Given the description of an element on the screen output the (x, y) to click on. 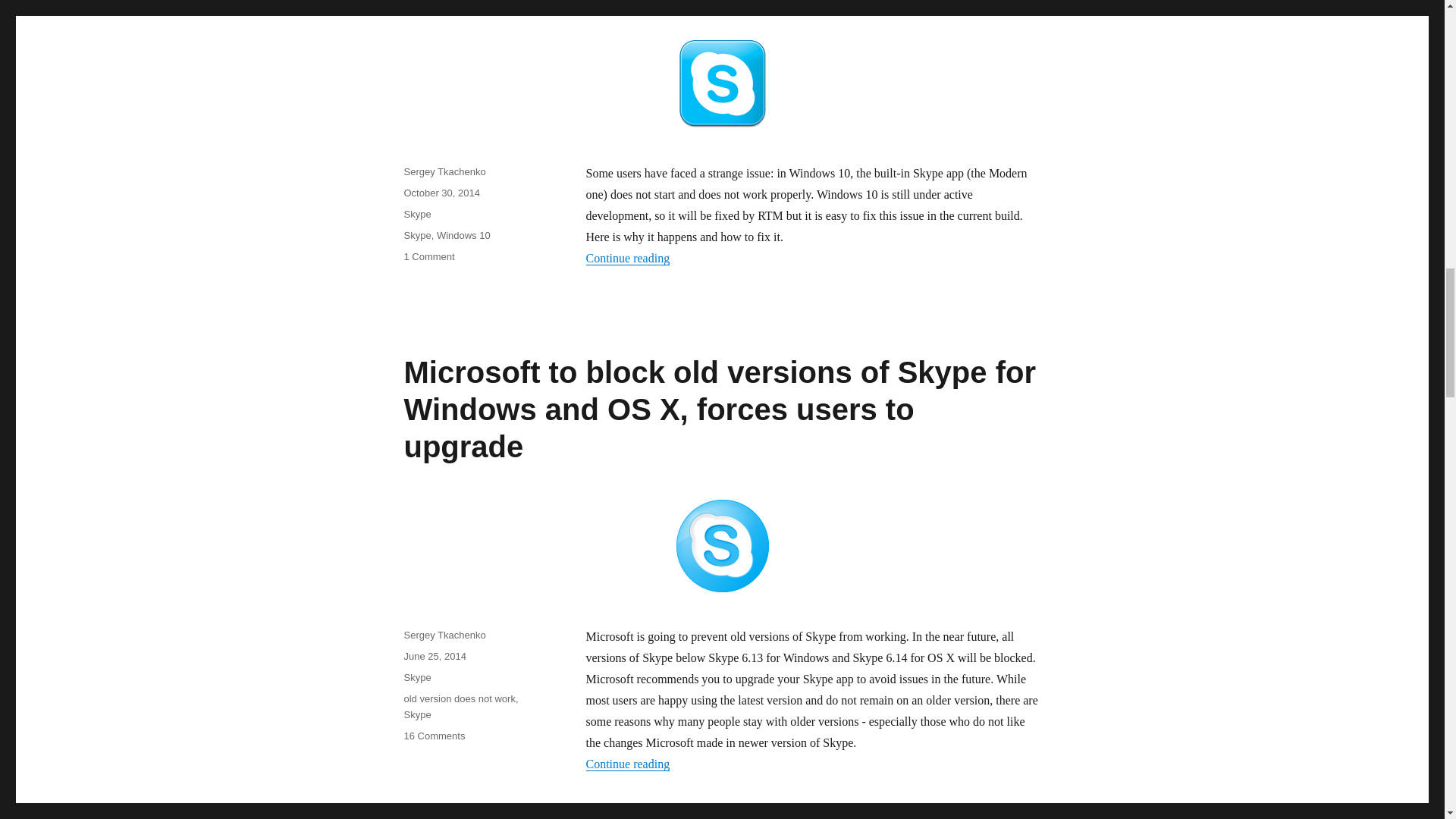
October 30, 2014 (441, 193)
Skype (416, 235)
Sergey Tkachenko (443, 171)
Skype (416, 214)
Windows 10 (463, 235)
